Given the description of an element on the screen output the (x, y) to click on. 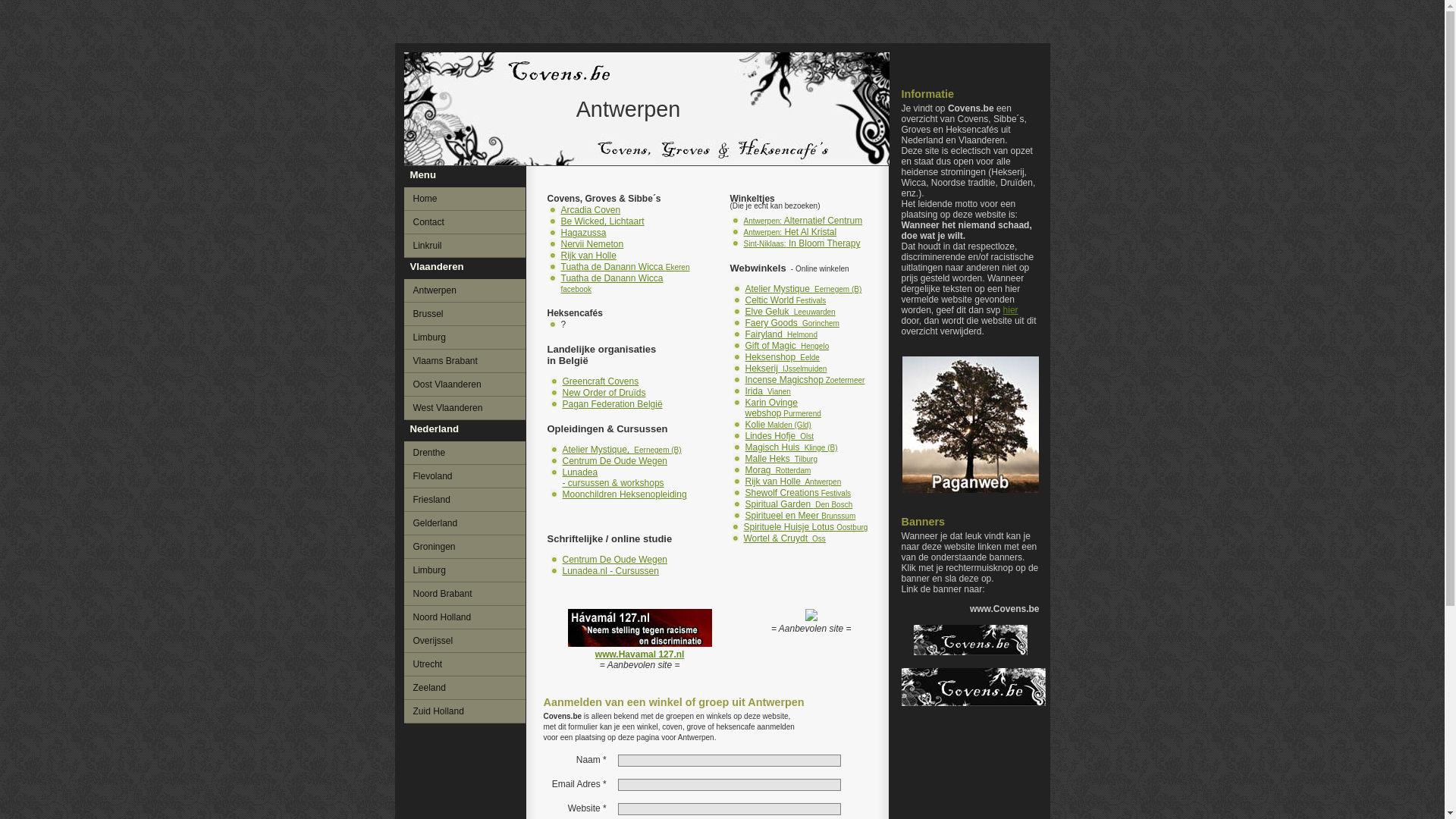
Celtic World Festivals Element type: text (784, 299)
Spiritueel en Meer Brunssum Element type: text (799, 515)
Magisch Huis  Klinge (B) Element type: text (790, 447)
Antwerpen: Alternatief Centrum Element type: text (802, 220)
Limburg Element type: text (463, 569)
Atelier Mystique  Eernegem (B) Element type: text (802, 288)
Noord Holland Element type: text (463, 616)
Groningen Element type: text (463, 546)
Rijk van Holle  Antwerpen Element type: text (792, 481)
Zeeland Element type: text (463, 687)
Hekserij  IJsselmuiden Element type: text (785, 368)
Drenthe Element type: text (463, 452)
Morag  Rotterdam Element type: text (777, 469)
Karin Ovinge webshop Purmerend Element type: text (782, 407)
Kolie Malden (Gld) Element type: text (777, 424)
Malle Heks  Tilburg Element type: text (780, 458)
Linkruil Element type: text (463, 245)
Greencraft Covens Element type: text (600, 381)
Hagazussa Element type: text (583, 232)
Atelier Mystique,  Eernegem (B) Element type: text (621, 449)
Moonchildren Heksenopleiding Element type: text (624, 494)
Spirituele Huisje Lotus Oostburg Element type: text (805, 526)
Lunadea.nl - Cursussen Element type: text (610, 570)
Antwerpen Element type: text (463, 290)
Limburg Element type: text (463, 337)
Oost Vlaanderen Element type: text (463, 384)
Heksenshop  Eelde Element type: text (781, 356)
Friesland Element type: text (463, 499)
Fairyland  Helmond Element type: text (780, 334)
Noord Brabant Element type: text (463, 593)
Zuid Holland Element type: text (463, 710)
Sint-Niklaas: In Bloom Therapy Element type: text (801, 243)
Tuatha de Danann Wicca Ekeren Element type: text (625, 266)
www.Havamal 127.nl Element type: text (639, 648)
hier Element type: text (1010, 309)
Centrum De Oude Wegen Element type: text (615, 559)
Vlaams Brabant Element type: text (463, 360)
Lindes Hofje  Olst Element type: text (778, 435)
Overijssel Element type: text (463, 640)
Flevoland Element type: text (463, 475)
Gelderland Element type: text (463, 522)
Rijk van Holle Element type: text (588, 255)
Tuatha de Danann Wicca facebook Element type: text (612, 283)
Elve Geluk  Leeuwarden Element type: text (789, 311)
Gift of Magic  Hengelo Element type: text (786, 345)
Be Wicked, Lichtaart Element type: text (602, 221)
Spiritual Garden  Den Bosch Element type: text (798, 503)
Home Element type: text (463, 198)
Faery Goods  Gorinchem Element type: text (791, 322)
West Vlaanderen Element type: text (463, 407)
Wortel & Cruydt  Oss Element type: text (784, 538)
Utrecht Element type: text (463, 663)
Shewolf Creations Festivals Element type: text (797, 492)
Nervii Nemeton Element type: text (592, 243)
Contact Element type: text (463, 221)
Antwerpen: Het Al Kristal Element type: text (789, 231)
Lunadea - cursussen & workshops Element type: text (613, 477)
Incense Magicshop Zoetermeer Element type: text (804, 379)
Brussel Element type: text (463, 313)
Arcadia Coven Element type: text (591, 209)
Centrum De Oude Wegen Element type: text (615, 460)
Irida  Vianen Element type: text (767, 390)
